Given the description of an element on the screen output the (x, y) to click on. 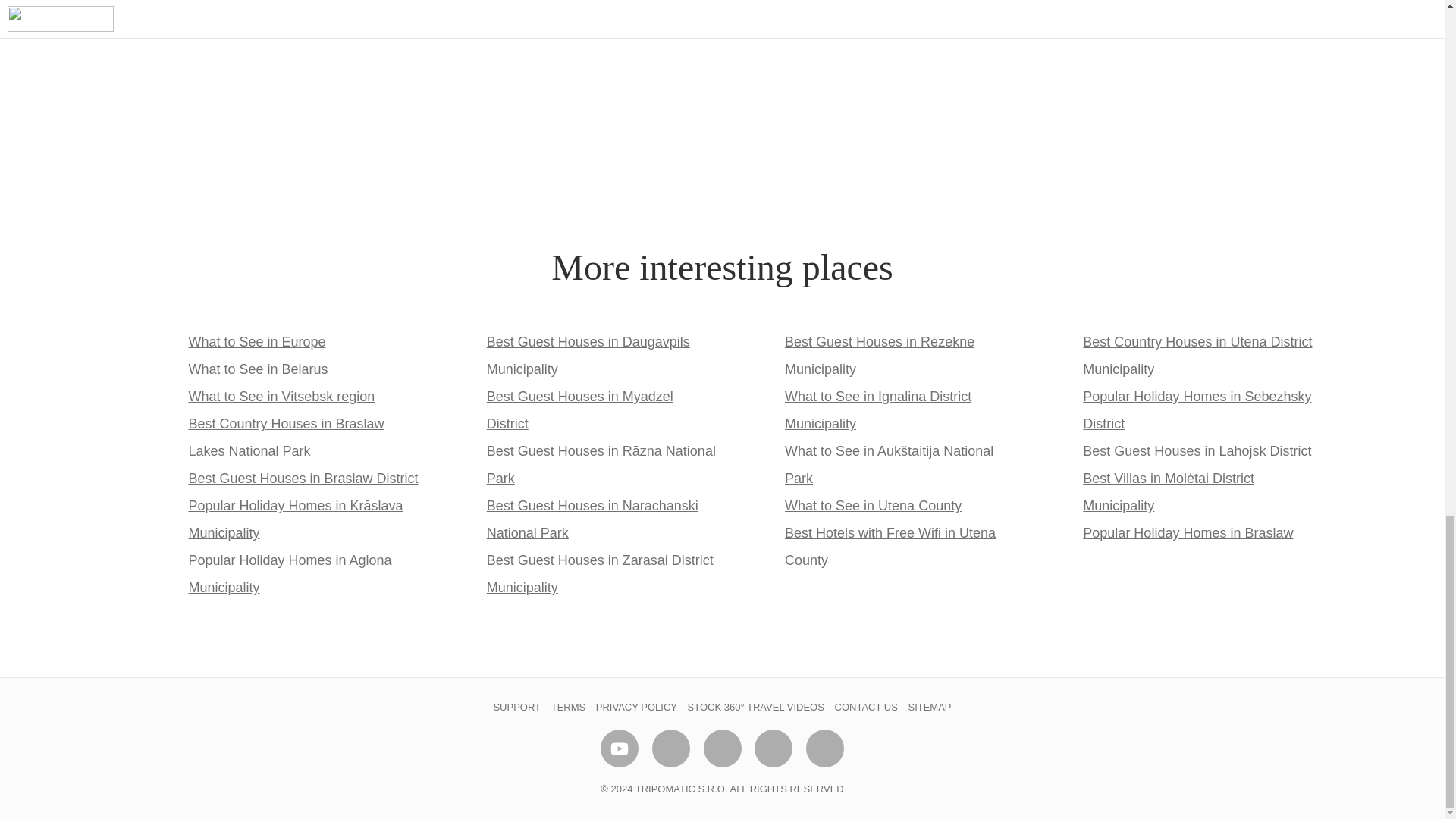
What to See in Utena County (872, 505)
What to See in Belarus (257, 368)
Best Guest Houses in Braslaw District (302, 478)
Best Guest Houses in Myadzel District (579, 410)
What to See in Vitsebsk region (280, 396)
What to See in Europe (255, 341)
Best Guest Houses in Daugavpils Municipality (588, 355)
Best Guest Houses in Zarasai District Municipality (599, 573)
What to See in Ignalina District Municipality (877, 410)
Best Guest Houses in Narachanski National Park (592, 518)
